Given the description of an element on the screen output the (x, y) to click on. 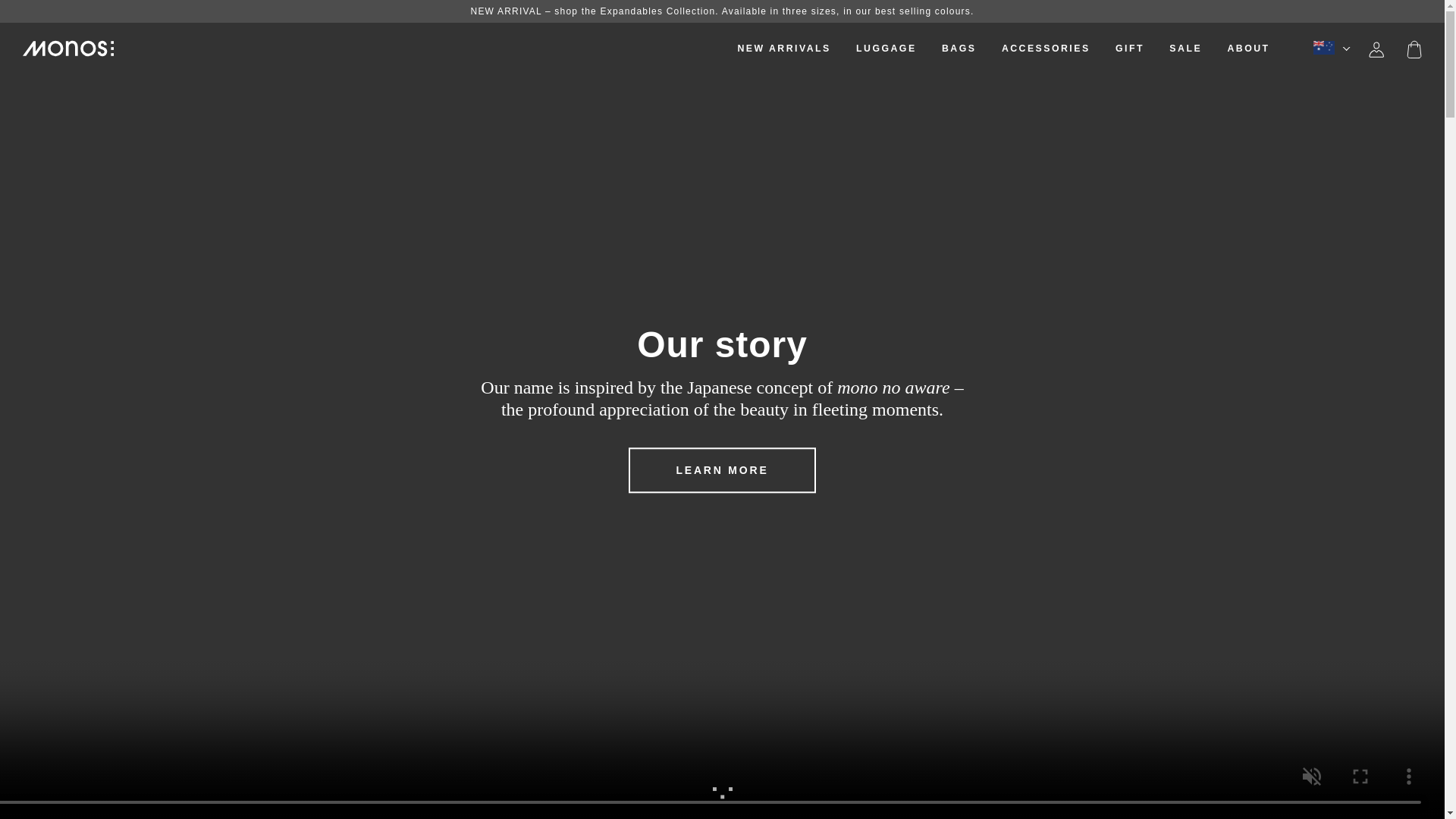
LUGGAGE (897, 49)
NEW ARRIVALS (782, 48)
BAGS (970, 49)
